Given the description of an element on the screen output the (x, y) to click on. 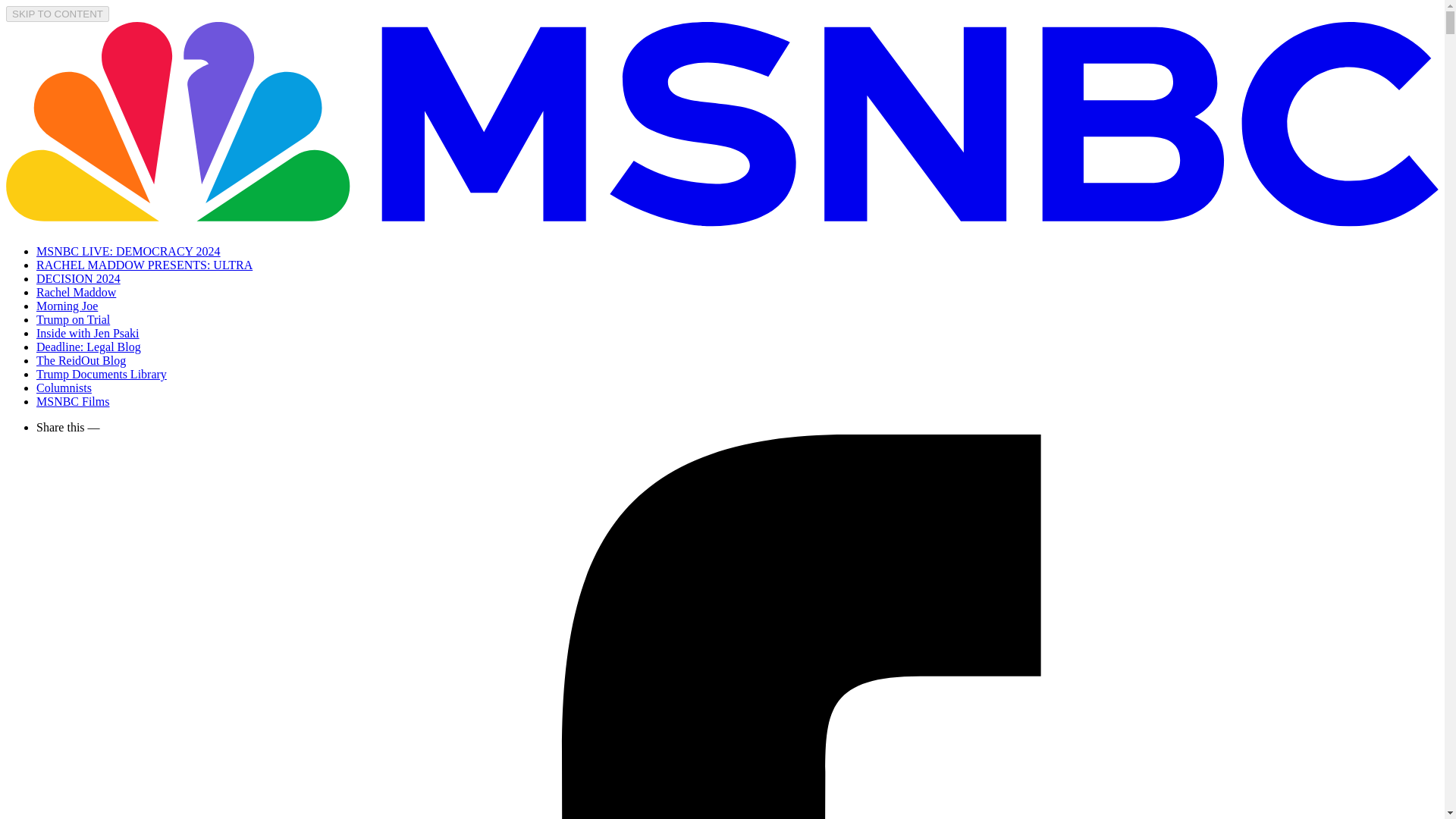
Columnists (63, 387)
SKIP TO CONTENT (57, 13)
MSNBC Films (72, 400)
Trump Documents Library (101, 373)
Morning Joe (66, 305)
MSNBC LIVE: DEMOCRACY 2024 (128, 250)
Inside with Jen Psaki (87, 332)
Trump on Trial (73, 318)
The ReidOut Blog (80, 359)
RACHEL MADDOW PRESENTS: ULTRA (143, 264)
